Given the description of an element on the screen output the (x, y) to click on. 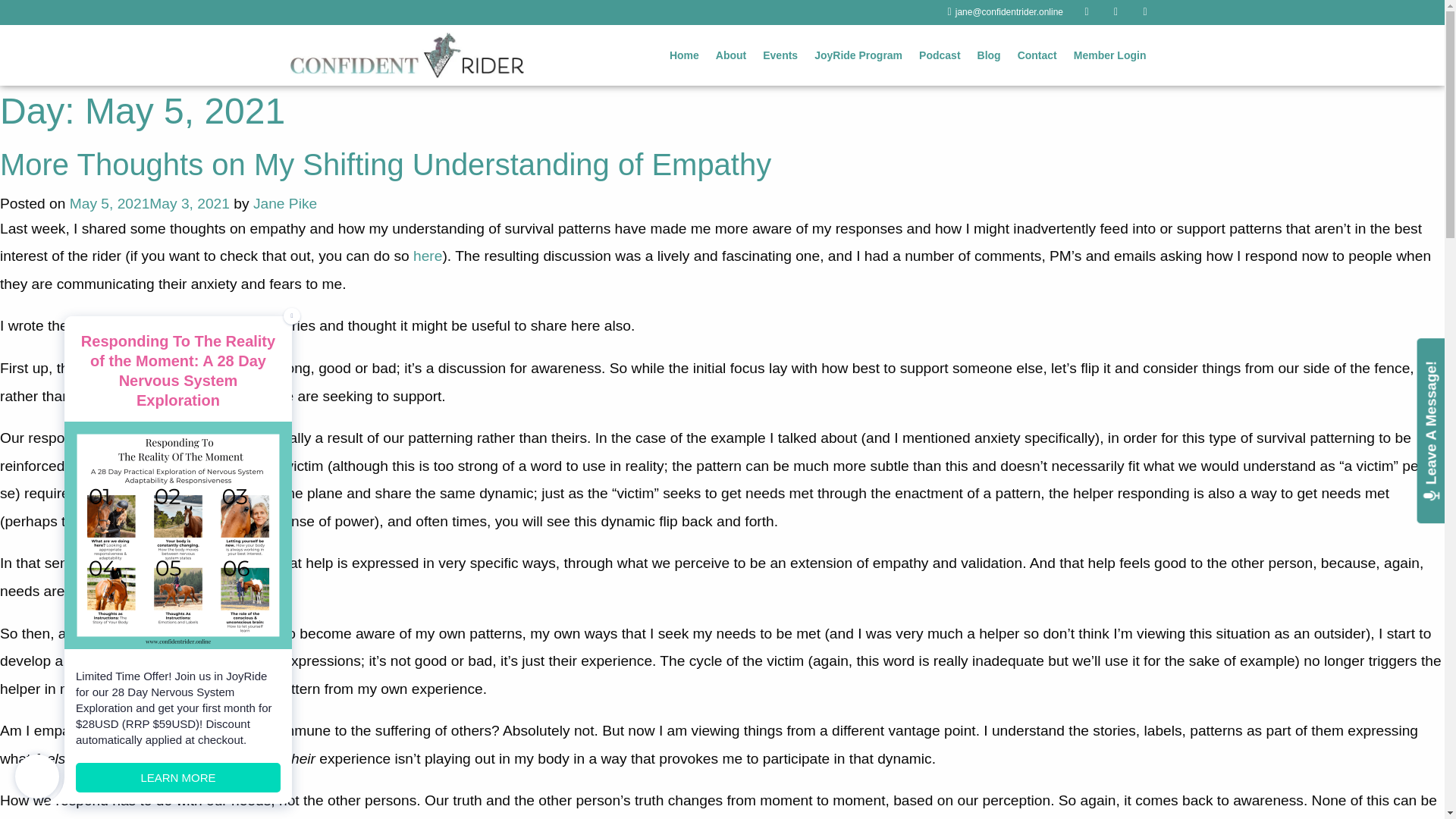
Jane Pike (285, 203)
More Thoughts on My Shifting Understanding of Empathy (385, 164)
Events (780, 54)
here (427, 255)
JoyRide Program (858, 54)
May 5, 2021May 3, 2021 (149, 203)
Member Login (1109, 54)
About (730, 54)
Podcast (939, 54)
Home (684, 54)
Blog (989, 54)
Contact (1037, 54)
